Given the description of an element on the screen output the (x, y) to click on. 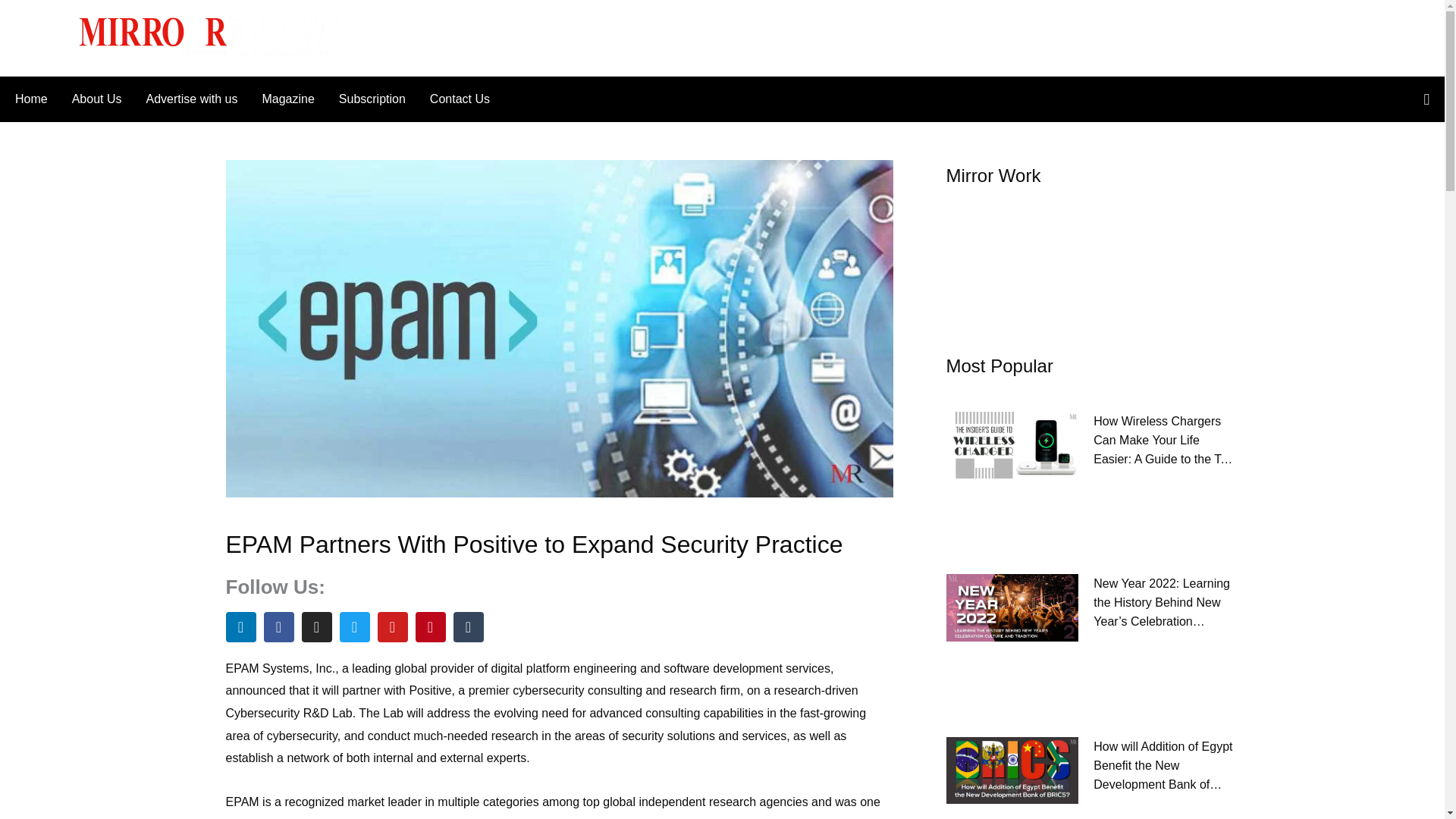
Pinterest (429, 626)
Linkedin (240, 626)
Youtube (392, 626)
Main Menu (43, 37)
Magazine (287, 99)
Contact Us (453, 99)
Tumblr (467, 626)
Instagram (316, 626)
About Us (96, 99)
